Given the description of an element on the screen output the (x, y) to click on. 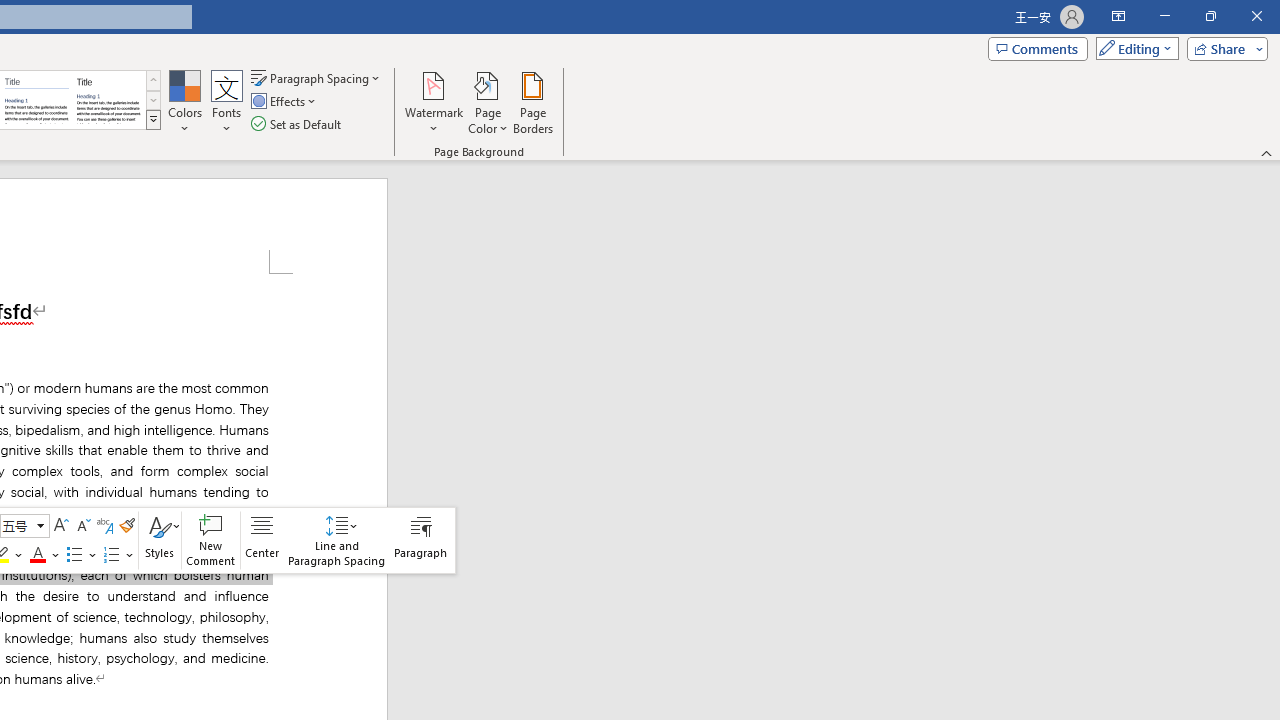
Format Painter (127, 525)
Style Set (153, 120)
Phonetic Guide... (104, 525)
Fonts (227, 102)
Watermark (434, 102)
Font Color (45, 554)
Styles (159, 540)
Class: NetUITextbox (16, 525)
Page Color (487, 102)
Center (262, 540)
